Given the description of an element on the screen output the (x, y) to click on. 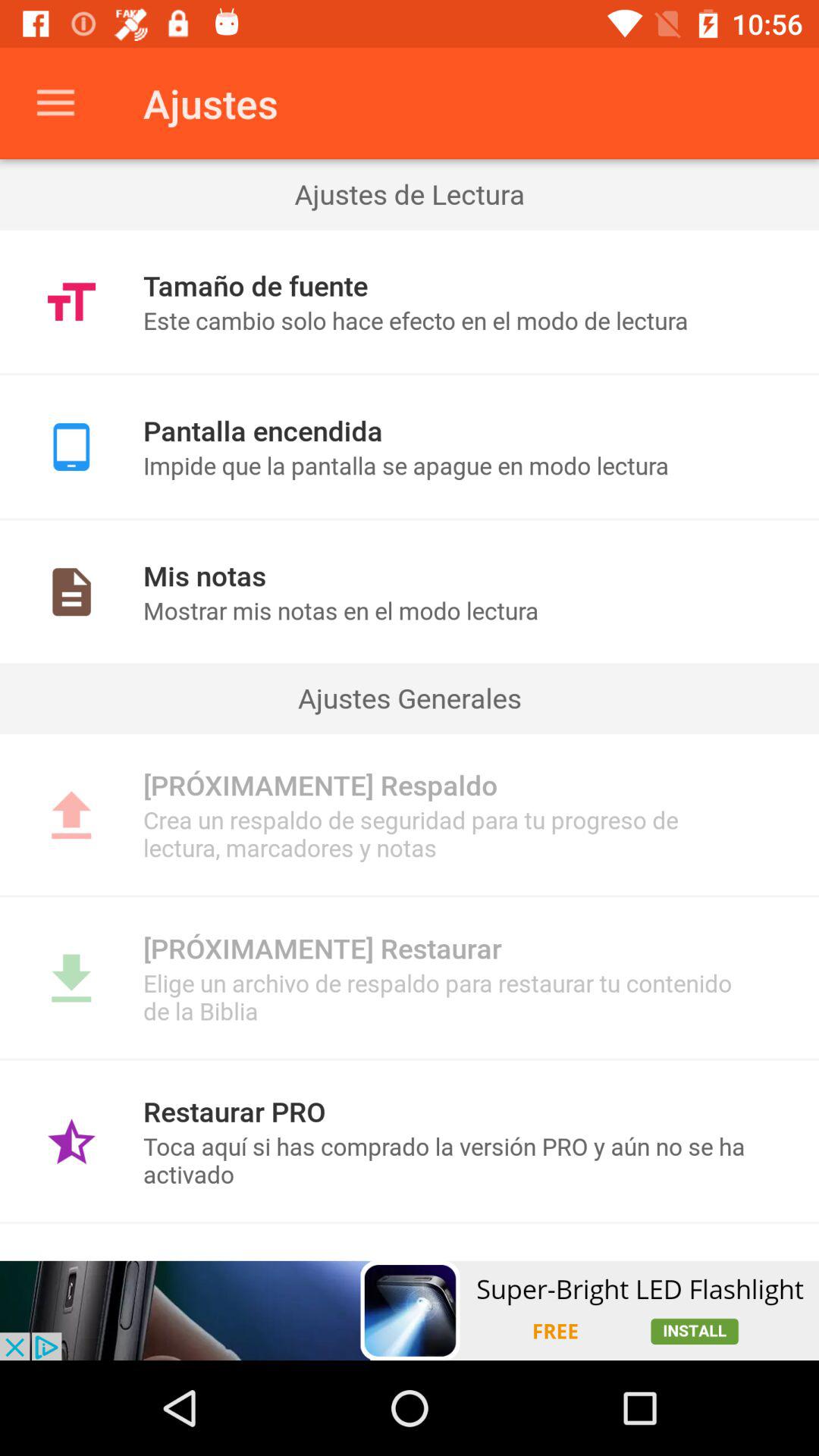
choose impide que la (449, 465)
